Given the description of an element on the screen output the (x, y) to click on. 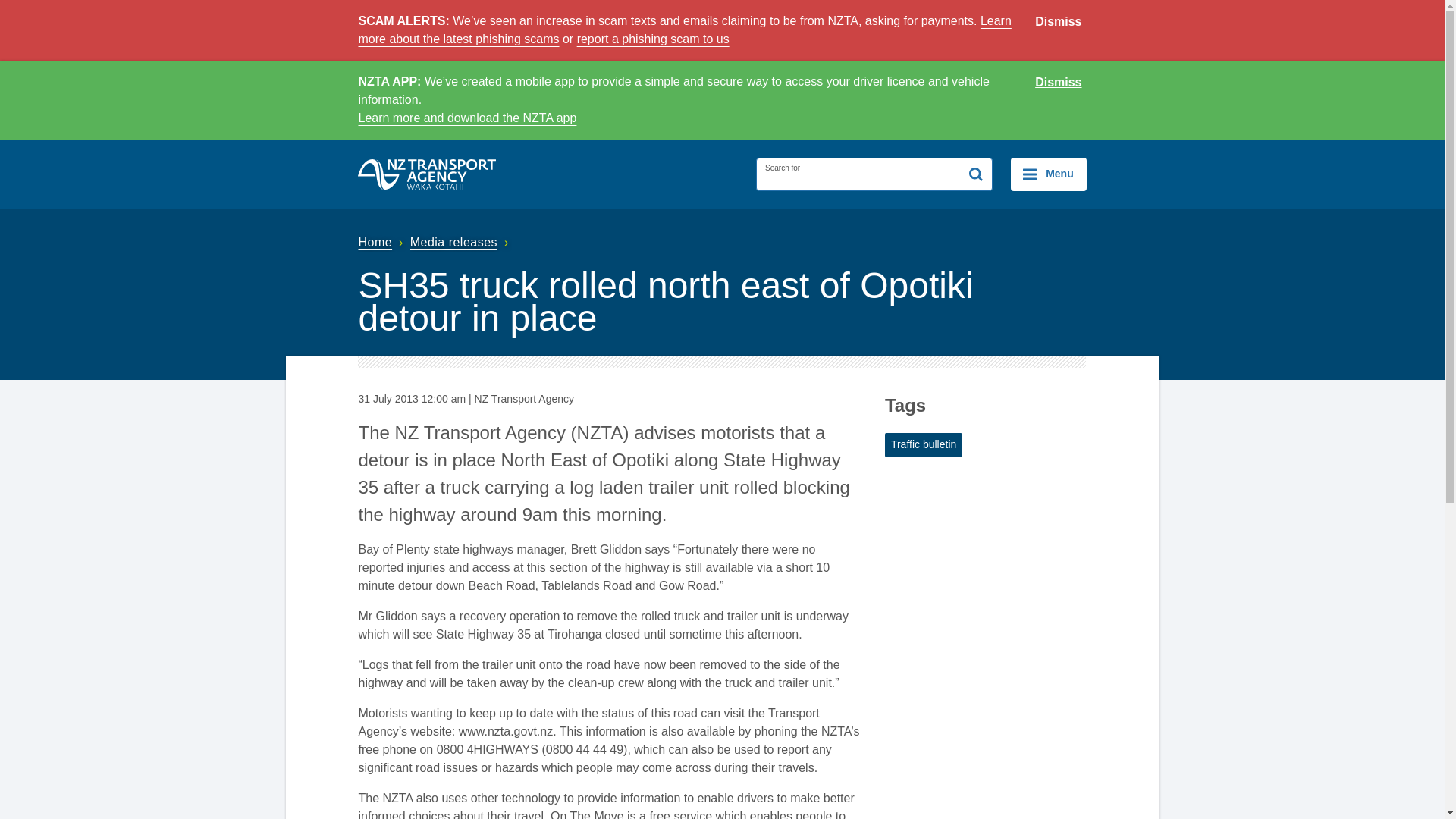
Dismiss (1058, 82)
NZ Transport Agency Waka Kotahi (427, 173)
Learn more and download the NZTA app (467, 117)
View all posts tagged 'Traffic bulletin' (923, 445)
Learn more about the latest phishing scams (684, 29)
Dismiss (1058, 21)
report a phishing scam to us (652, 38)
Home (382, 241)
Menu (1048, 174)
